Given the description of an element on the screen output the (x, y) to click on. 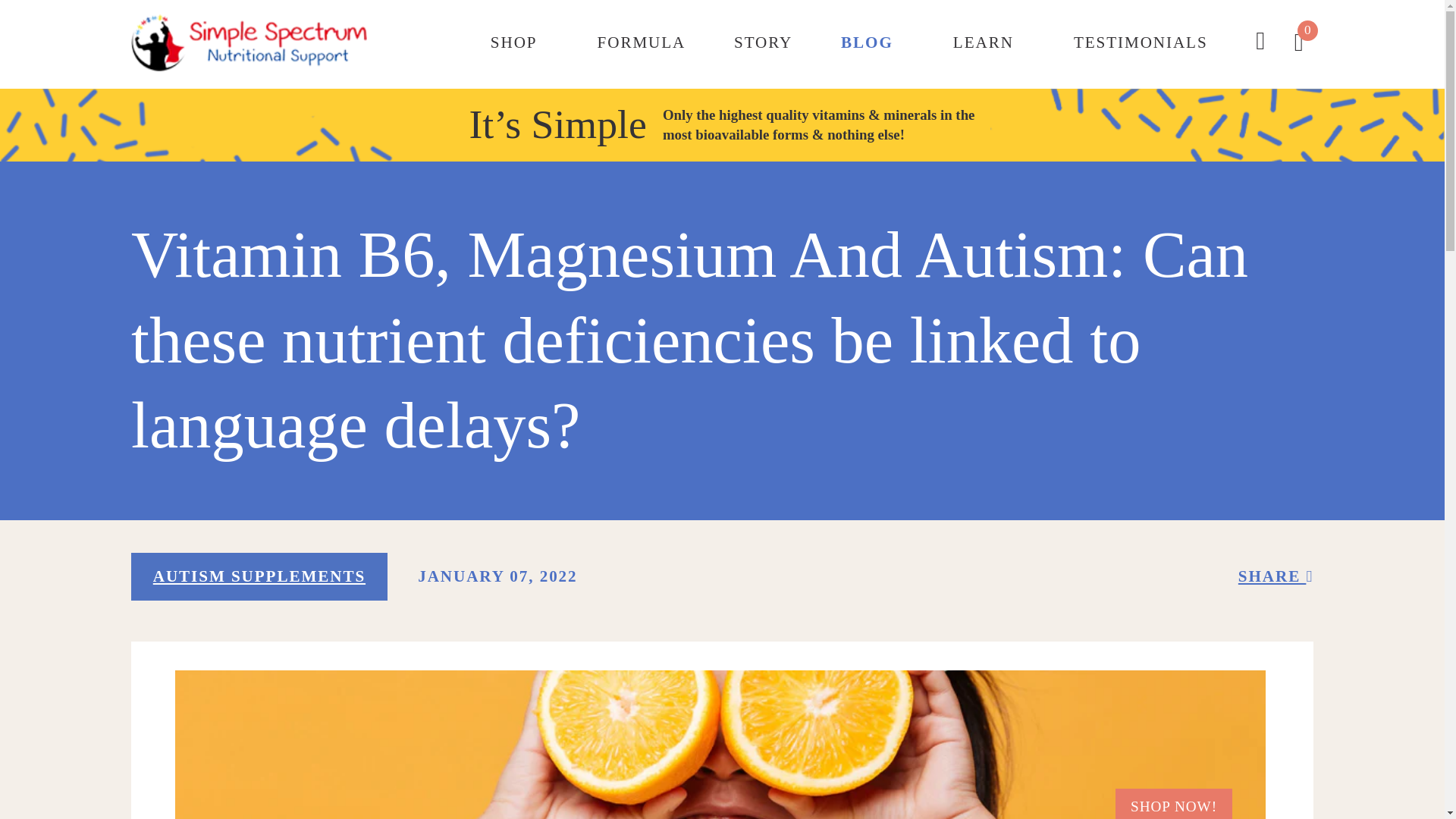
SHOP (513, 42)
STORY (762, 42)
SHARE (1276, 576)
AUTISM SUPPLEMENTS (259, 576)
BLOG (867, 42)
FORMULA (640, 42)
TESTIMONIALS (1141, 42)
LEARN (983, 42)
SHOP NOW! (1174, 801)
